Given the description of an element on the screen output the (x, y) to click on. 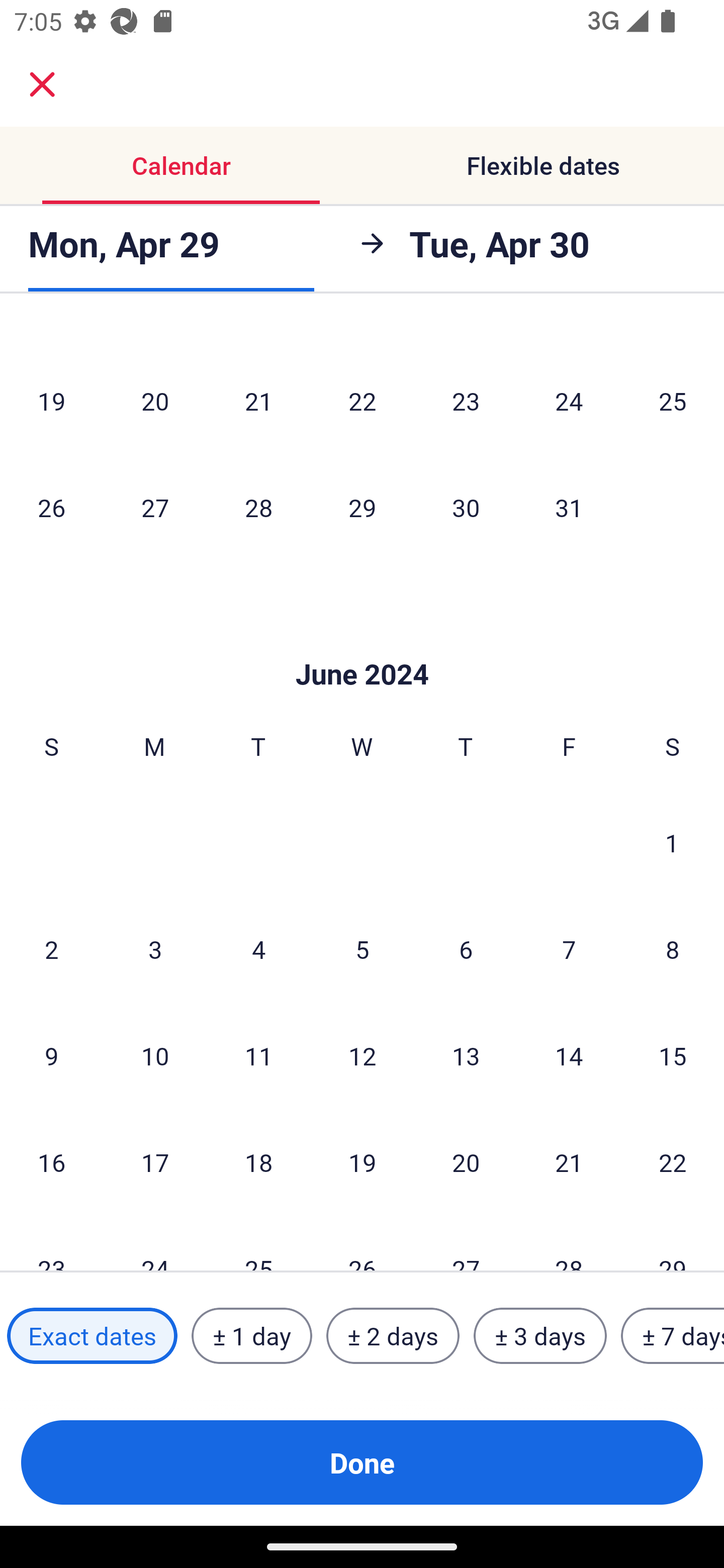
close. (42, 84)
Flexible dates (542, 164)
19 Sunday, May 19, 2024 (51, 400)
20 Monday, May 20, 2024 (155, 400)
21 Tuesday, May 21, 2024 (258, 400)
22 Wednesday, May 22, 2024 (362, 400)
23 Thursday, May 23, 2024 (465, 400)
24 Friday, May 24, 2024 (569, 400)
25 Saturday, May 25, 2024 (672, 400)
26 Sunday, May 26, 2024 (51, 507)
27 Monday, May 27, 2024 (155, 507)
28 Tuesday, May 28, 2024 (258, 507)
29 Wednesday, May 29, 2024 (362, 507)
30 Thursday, May 30, 2024 (465, 507)
31 Friday, May 31, 2024 (569, 507)
Skip to Done (362, 644)
1 Saturday, June 1, 2024 (672, 841)
2 Sunday, June 2, 2024 (51, 948)
3 Monday, June 3, 2024 (155, 948)
4 Tuesday, June 4, 2024 (258, 948)
5 Wednesday, June 5, 2024 (362, 948)
6 Thursday, June 6, 2024 (465, 948)
7 Friday, June 7, 2024 (569, 948)
8 Saturday, June 8, 2024 (672, 948)
9 Sunday, June 9, 2024 (51, 1055)
10 Monday, June 10, 2024 (155, 1055)
11 Tuesday, June 11, 2024 (258, 1055)
12 Wednesday, June 12, 2024 (362, 1055)
13 Thursday, June 13, 2024 (465, 1055)
14 Friday, June 14, 2024 (569, 1055)
15 Saturday, June 15, 2024 (672, 1055)
16 Sunday, June 16, 2024 (51, 1161)
17 Monday, June 17, 2024 (155, 1161)
18 Tuesday, June 18, 2024 (258, 1161)
19 Wednesday, June 19, 2024 (362, 1161)
20 Thursday, June 20, 2024 (465, 1161)
21 Friday, June 21, 2024 (569, 1161)
22 Saturday, June 22, 2024 (672, 1161)
Exact dates (92, 1335)
± 1 day (251, 1335)
± 2 days (392, 1335)
± 3 days (539, 1335)
± 7 days (672, 1335)
Done (361, 1462)
